Given the description of an element on the screen output the (x, y) to click on. 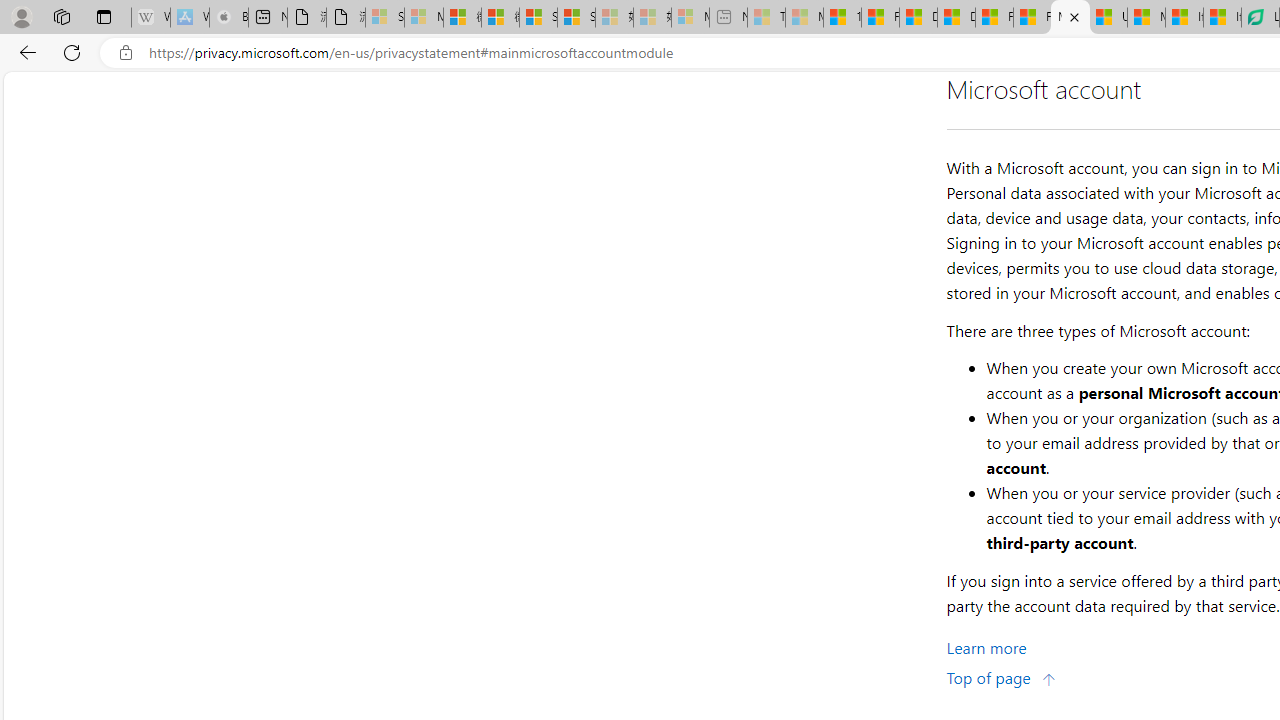
US Heat Deaths Soared To Record High Last Year (1108, 17)
Top Stories - MSN - Sleeping (765, 17)
Top of page (1001, 677)
Microsoft account | Account Checkup - Sleeping (690, 17)
Microsoft Services Agreement - Sleeping (423, 17)
Drinking tea every day is proven to delay biological aging (956, 17)
